Given the description of an element on the screen output the (x, y) to click on. 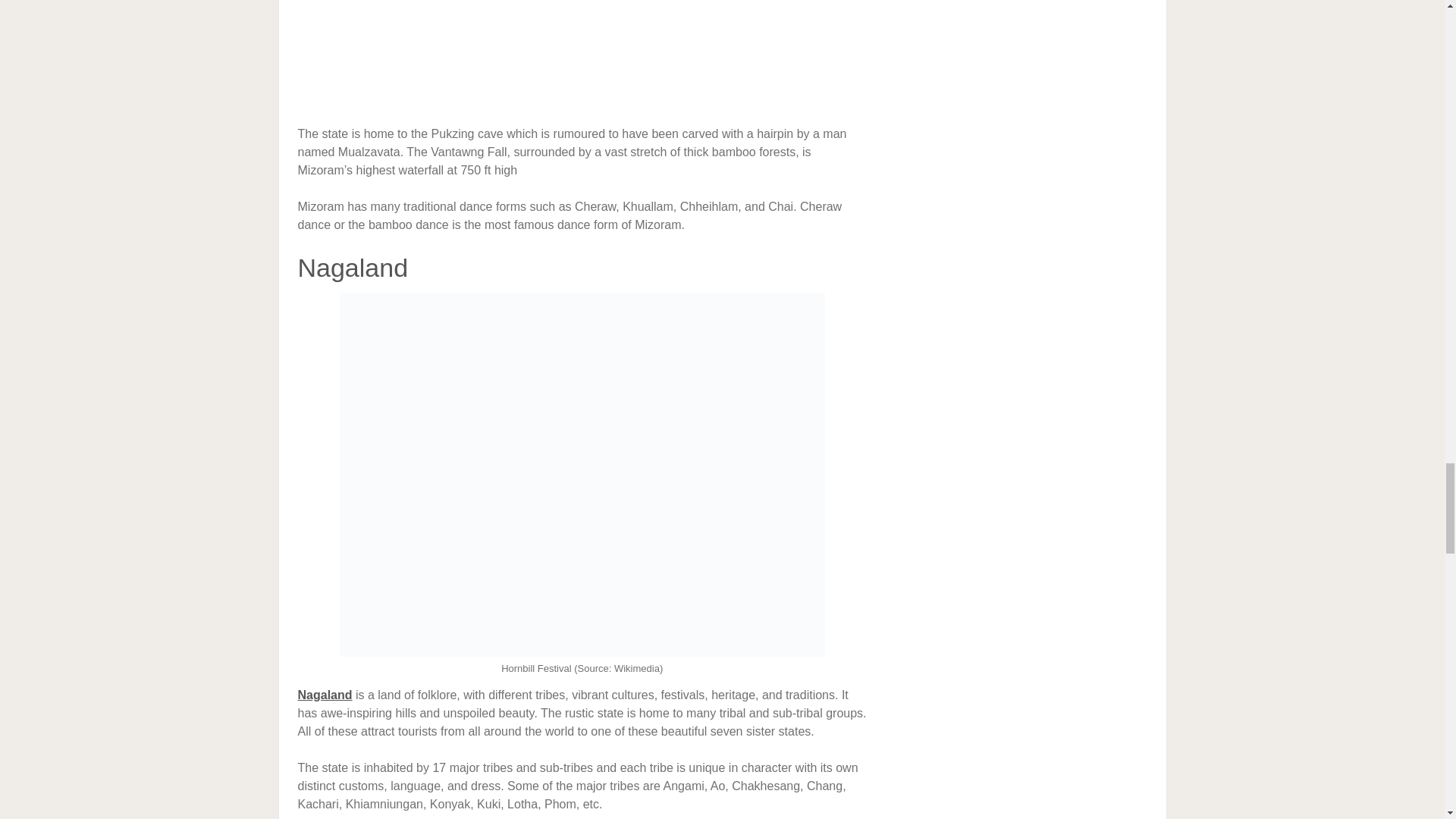
Nagaland (324, 694)
